Given the description of an element on the screen output the (x, y) to click on. 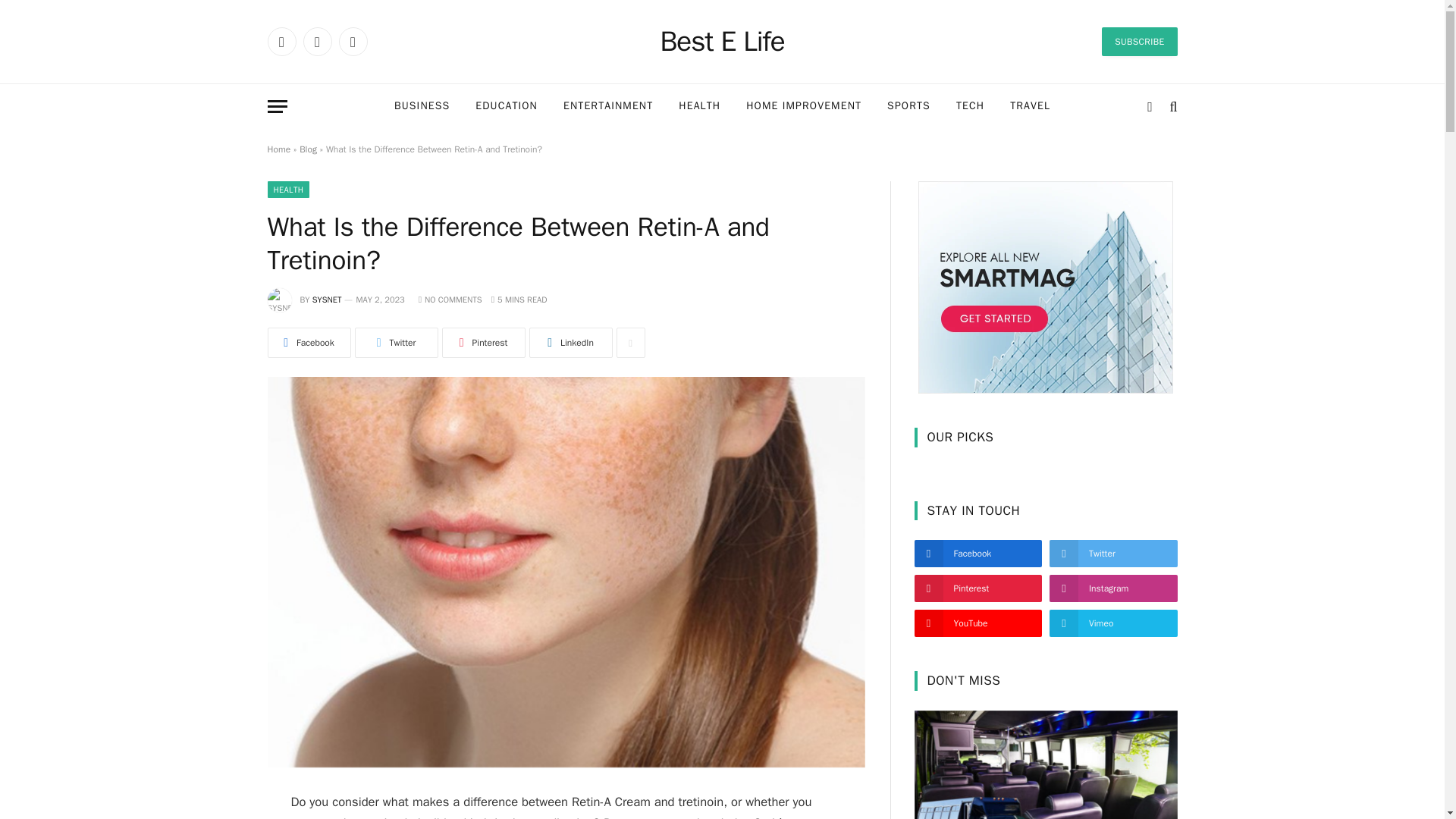
HOME IMPROVEMENT (804, 106)
EDUCATION (506, 106)
BUSINESS (422, 106)
Facebook (280, 41)
Instagram (351, 41)
TRAVEL (1029, 106)
ENTERTAINMENT (607, 106)
HEALTH (699, 106)
SUBSCRIBE (1139, 41)
SPORTS (909, 106)
Best E Life (721, 41)
